Given the description of an element on the screen output the (x, y) to click on. 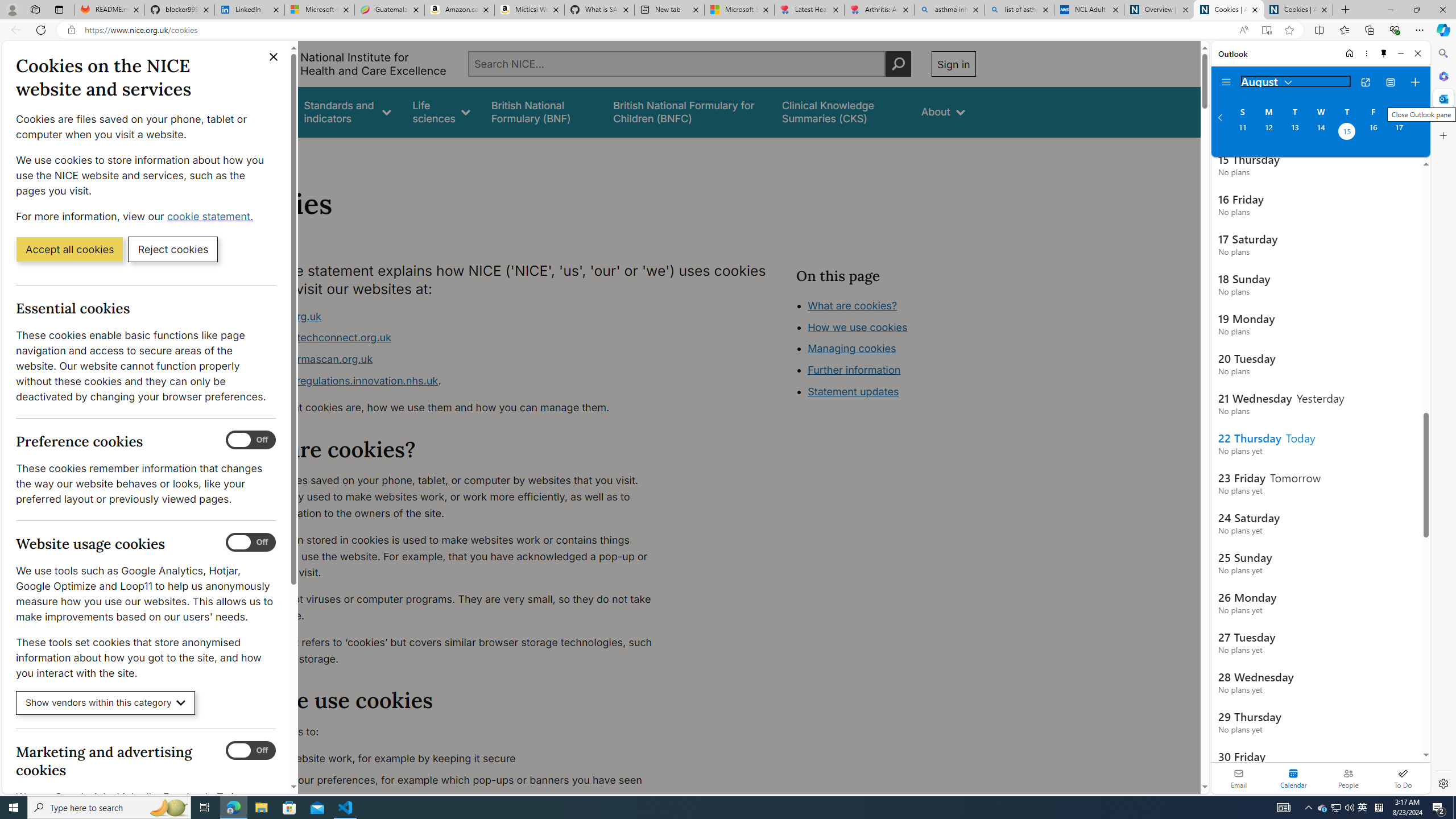
www.nice.org.uk (279, 315)
About (283, 152)
Monday, August 12, 2024.  (1268, 132)
Unpin side pane (1383, 53)
Enter Immersive Reader (F9) (1266, 29)
Perform search (898, 63)
Saturday, August 17, 2024.  (1399, 132)
Reject cookies (173, 248)
Friday, August 16, 2024.  (1372, 132)
